Given the description of an element on the screen output the (x, y) to click on. 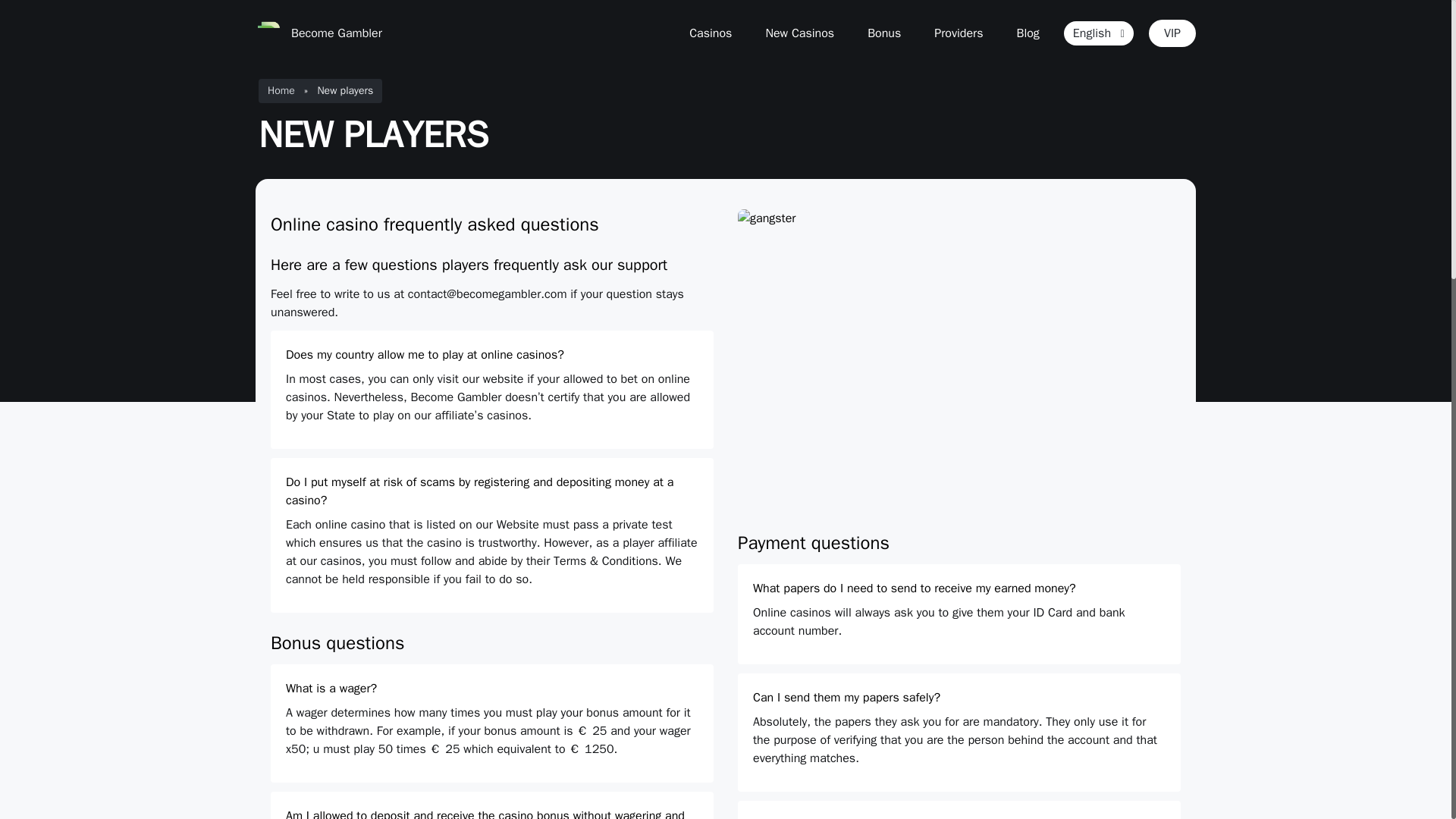
VIP (1171, 32)
Providers (957, 33)
English (1099, 33)
New Casinos (799, 33)
Home (281, 90)
Bonus (884, 33)
Blog (1027, 33)
Become Gambler (318, 32)
Casinos (710, 33)
